Given the description of an element on the screen output the (x, y) to click on. 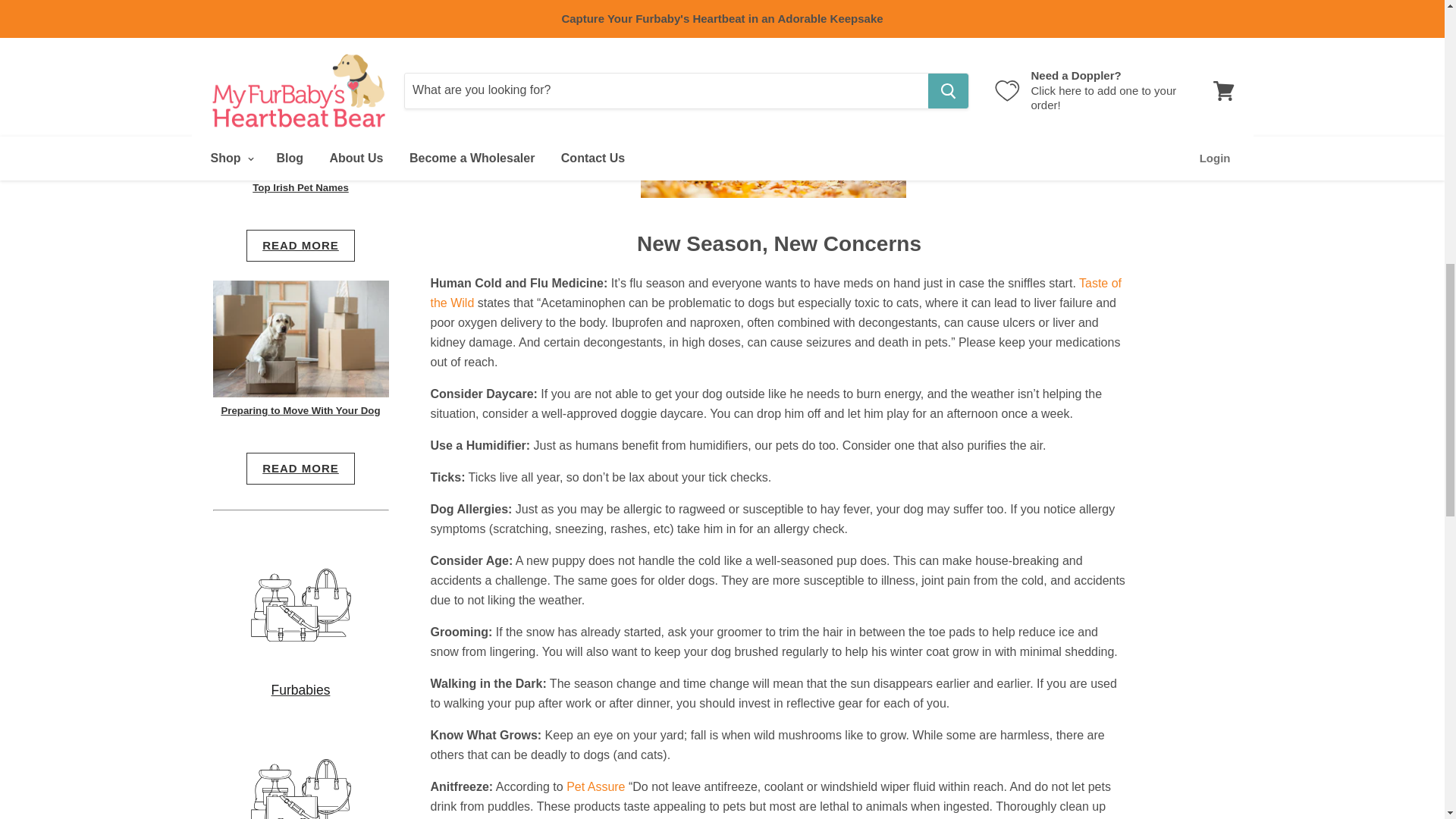
Top Irish Pet Names (300, 187)
READ MORE (300, 245)
READ MORE (300, 6)
